Given the description of an element on the screen output the (x, y) to click on. 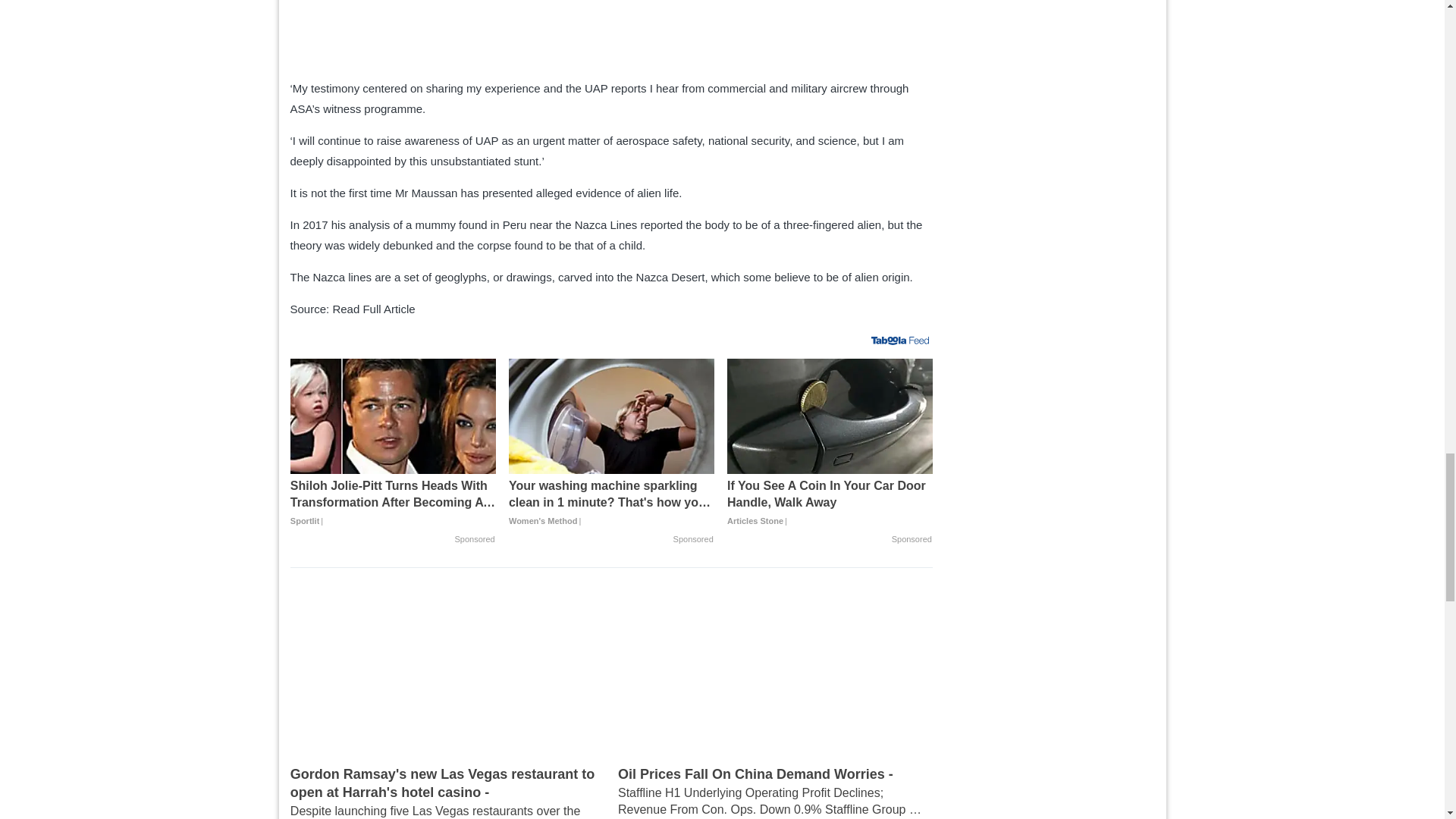
Sponsored (474, 539)
Read Full Article (372, 308)
